Given the description of an element on the screen output the (x, y) to click on. 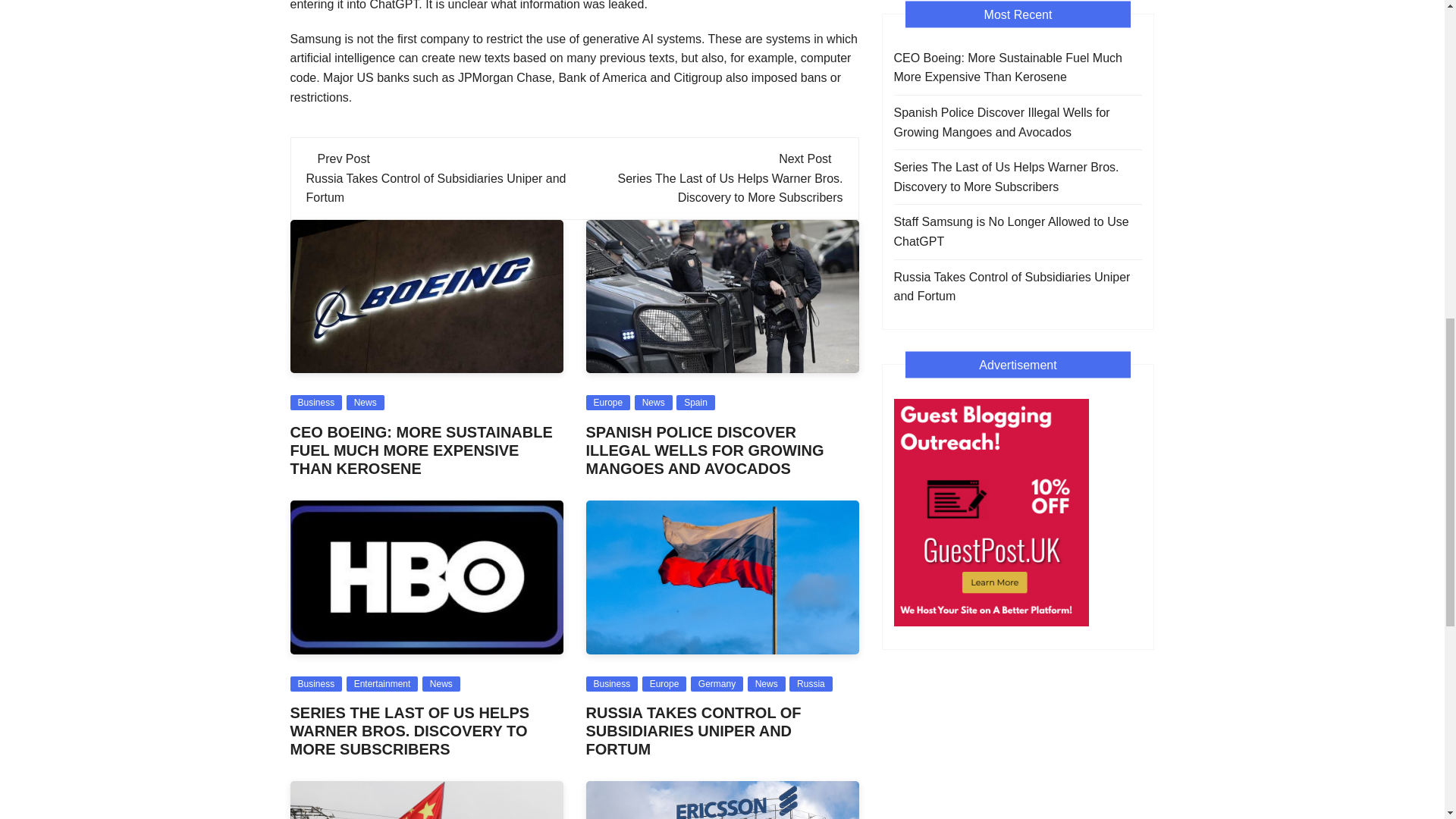
Spain (695, 402)
Advertisement (990, 512)
Russia Takes Control of Subsidiaries Uniper and Fortum (435, 187)
News (441, 683)
News (365, 402)
Business (315, 683)
Europe (607, 402)
Entertainment (382, 683)
Business (315, 402)
News (653, 402)
